Given the description of an element on the screen output the (x, y) to click on. 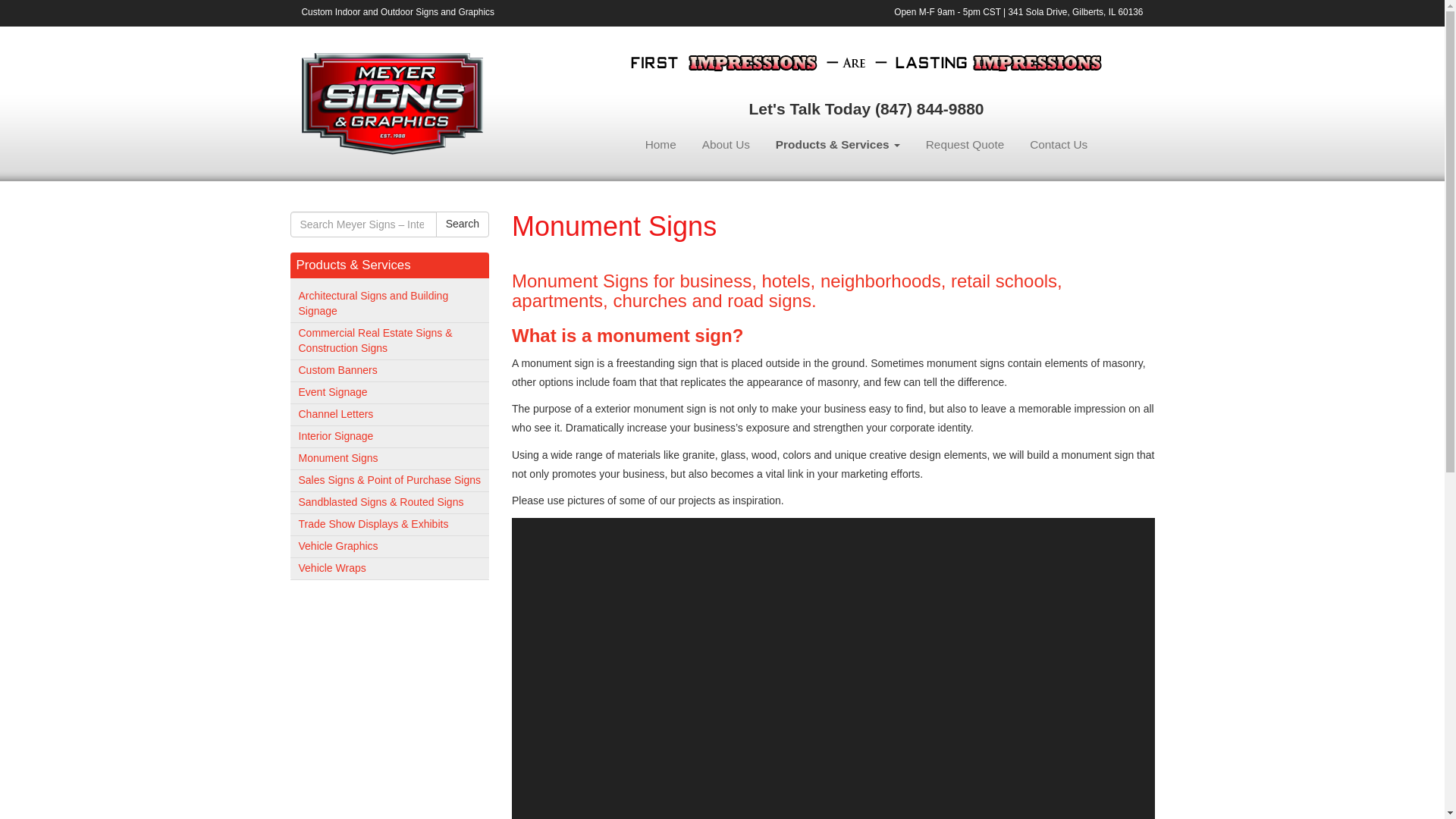
About Us (725, 144)
Request Quote (965, 144)
341 Sola Drive, Gilberts, IL 60136 (1074, 11)
Contact Us (1058, 144)
Home (660, 144)
